Given the description of an element on the screen output the (x, y) to click on. 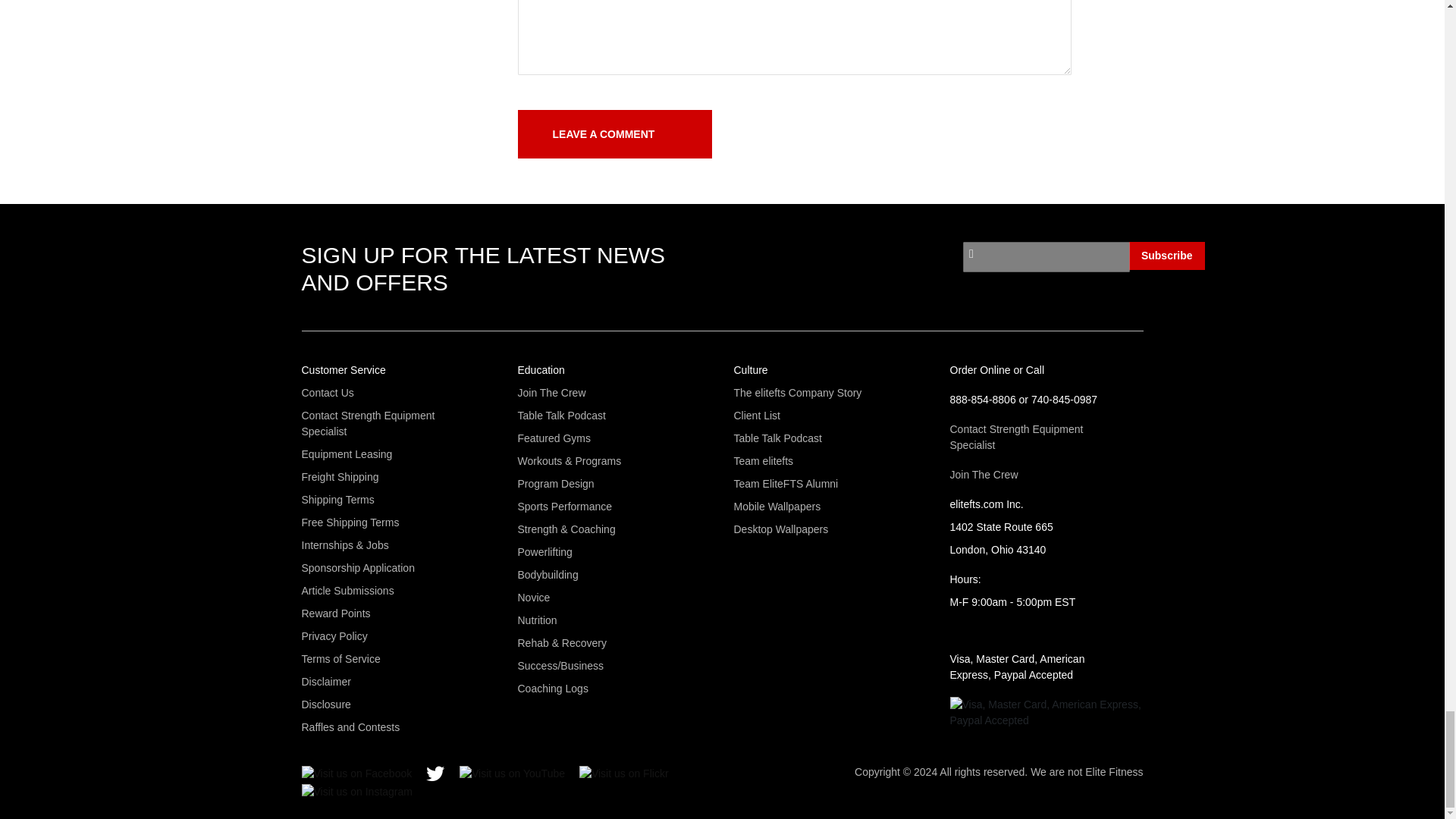
Subscribe (1167, 255)
